Given the description of an element on the screen output the (x, y) to click on. 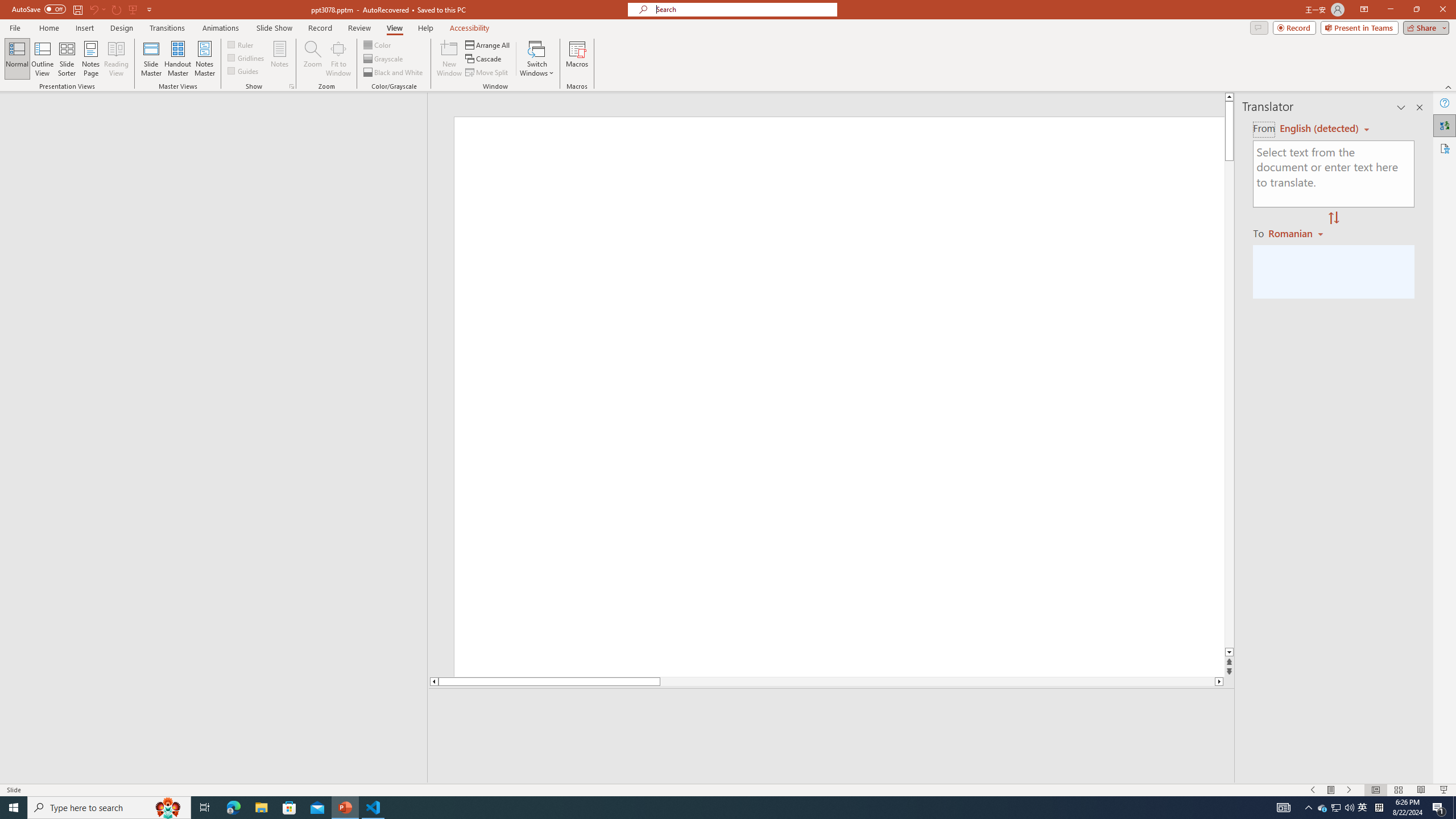
Switch Windows (537, 58)
